Given the description of an element on the screen output the (x, y) to click on. 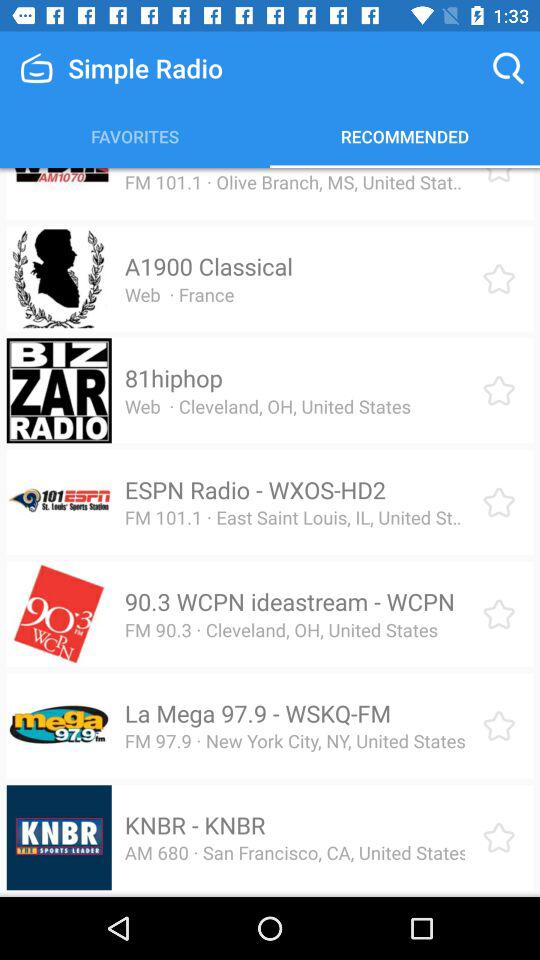
turn off the item below web cleveland oh item (254, 489)
